Given the description of an element on the screen output the (x, y) to click on. 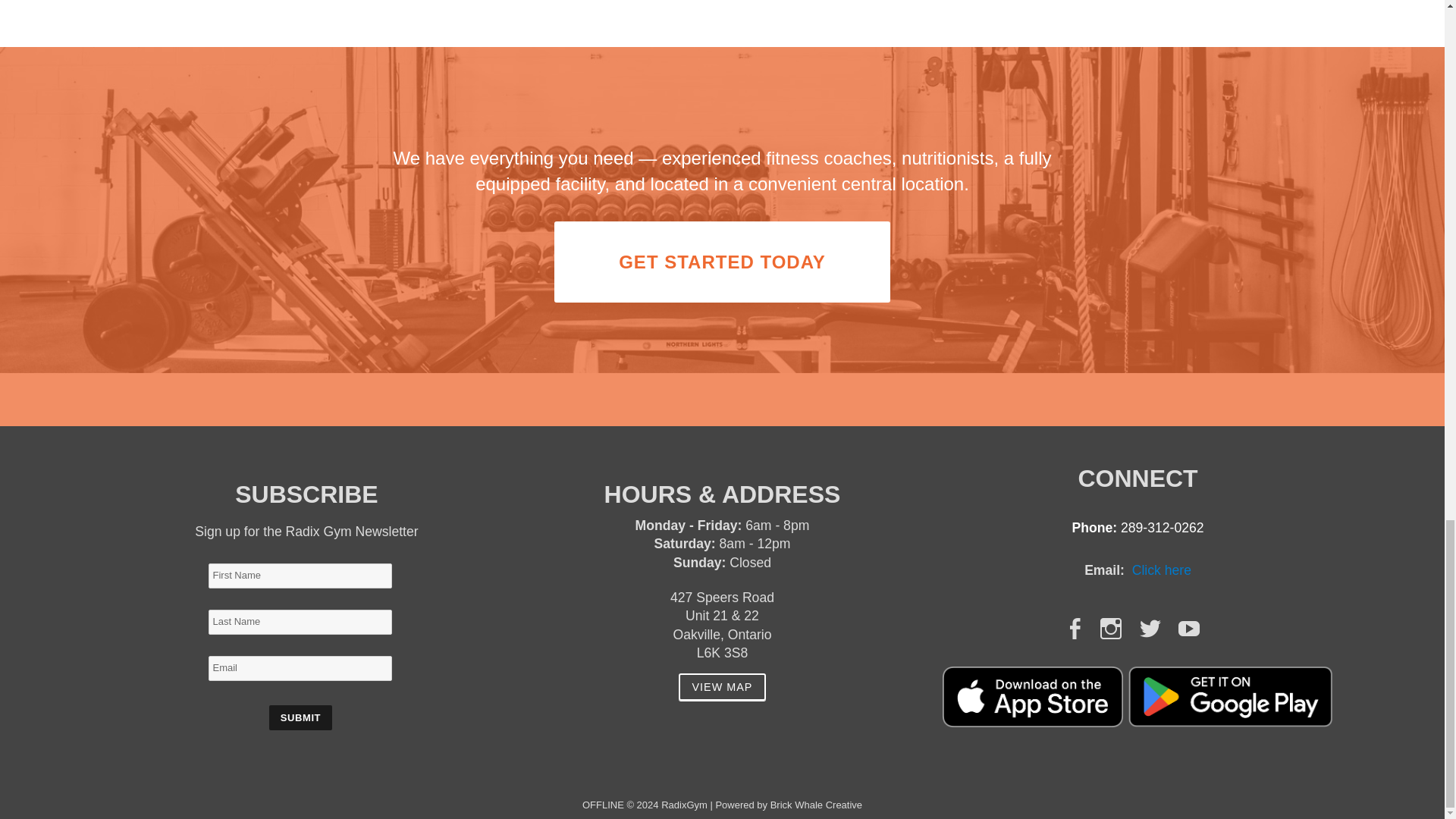
Click here (1161, 570)
Follow Radix on YouTube (1188, 628)
Follow Radix on Instagram (1110, 628)
Submit (301, 717)
Brick Whale Creative (815, 804)
VIEW MAP (721, 687)
289-312-0262 (1162, 527)
Submit (301, 717)
Follow Radix on Twitter (1149, 628)
Follow Radix on Facebook (1074, 628)
